Given the description of an element on the screen output the (x, y) to click on. 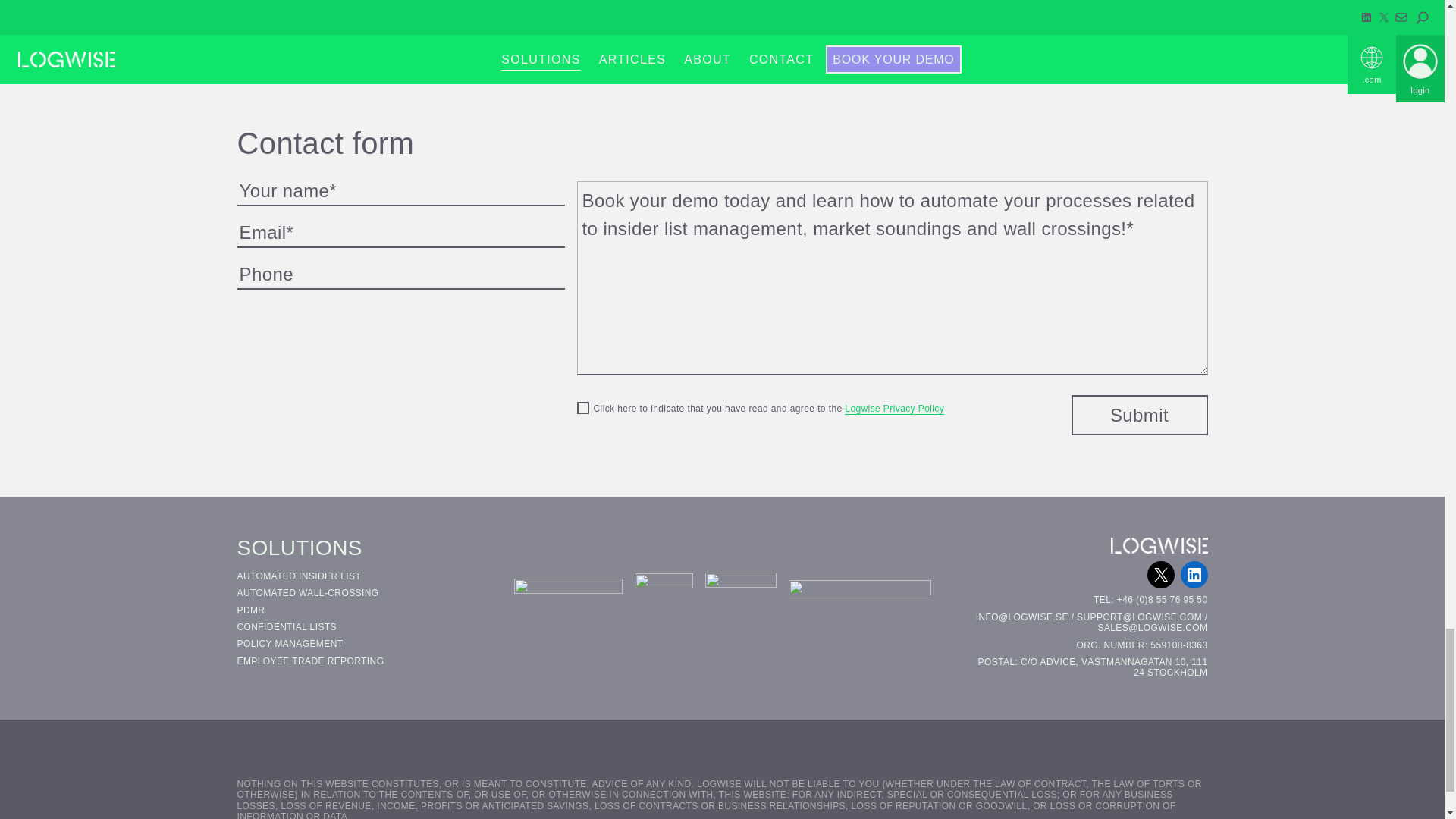
POLICY MANAGEMENT (288, 643)
EMPLOYEE TRADE REPORTING (309, 661)
AUTOMATED WALL-CROSSING (306, 593)
PDMR (249, 610)
AUTOMATED INSIDER LIST (298, 575)
CONFIDENTIAL LISTS (285, 626)
Submit (1138, 414)
X (1160, 574)
on (582, 408)
LINKEDIN (1193, 574)
